Given the description of an element on the screen output the (x, y) to click on. 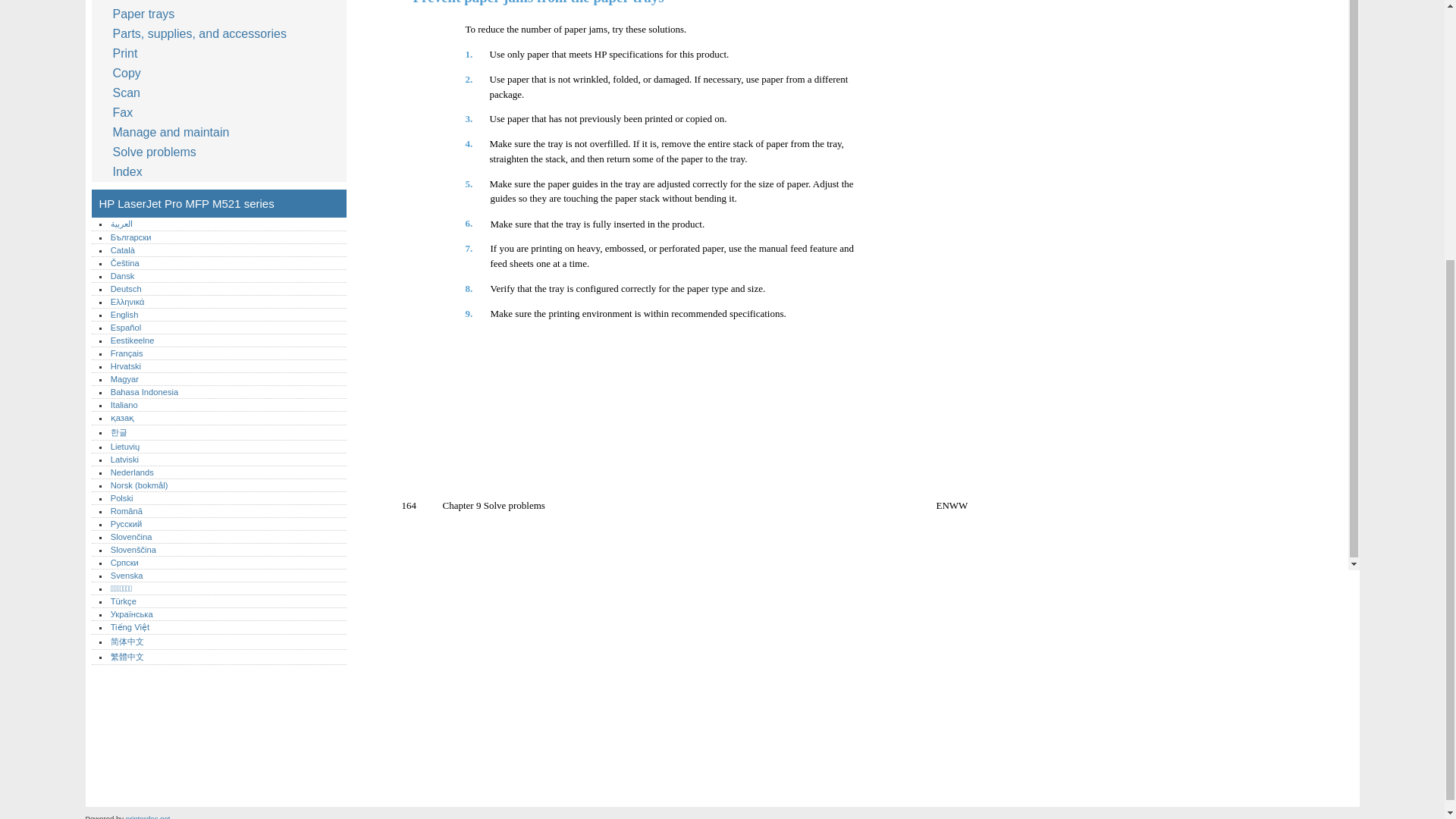
Paper trays (147, 14)
Advertisement (480, 688)
Product introduction (169, 2)
Parts, supplies, and accessories (203, 34)
